Given the description of an element on the screen output the (x, y) to click on. 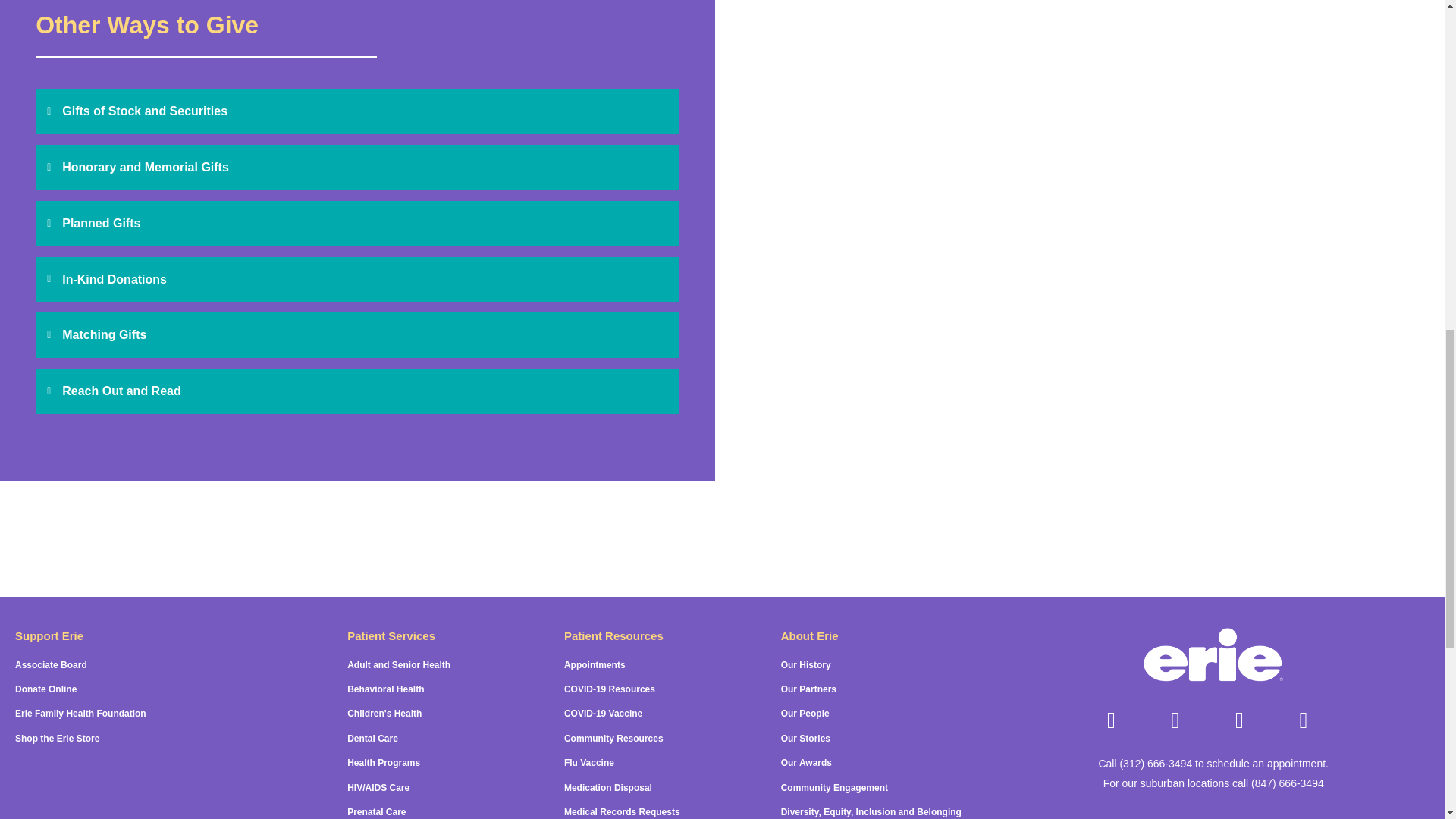
Diversity, Equity, Inclusion and Belonging (870, 811)
Our People (804, 713)
LinkedIn (1238, 719)
Instagram (1175, 719)
Our Awards (805, 762)
Our History (805, 665)
About Erie (809, 635)
About Erie (809, 635)
erie-logo-945pxWhite (1212, 656)
Support Erie (48, 635)
